Given the description of an element on the screen output the (x, y) to click on. 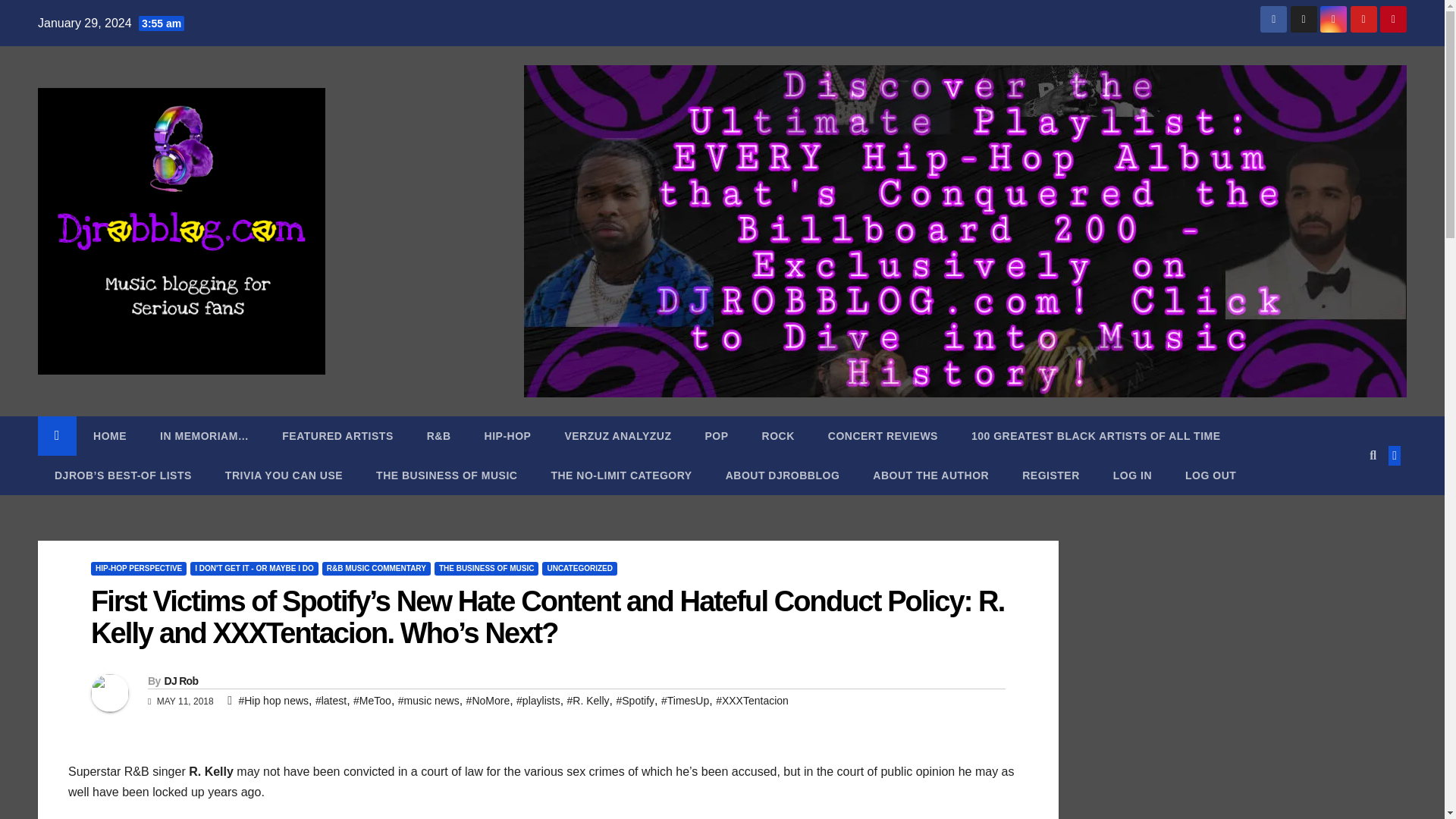
REGISTER (1051, 475)
CONCERT REVIEWS (882, 435)
HIP-HOP PERSPECTIVE (138, 568)
100 GREATEST BLACK ARTISTS OF ALL TIME (1096, 435)
100 Greatest Black Artists of All Time (1096, 435)
ABOUT THE AUTHOR (931, 475)
HIP-HOP (507, 435)
Featured Artists (336, 435)
Pop (715, 435)
About djrobblog (783, 475)
